Given the description of an element on the screen output the (x, y) to click on. 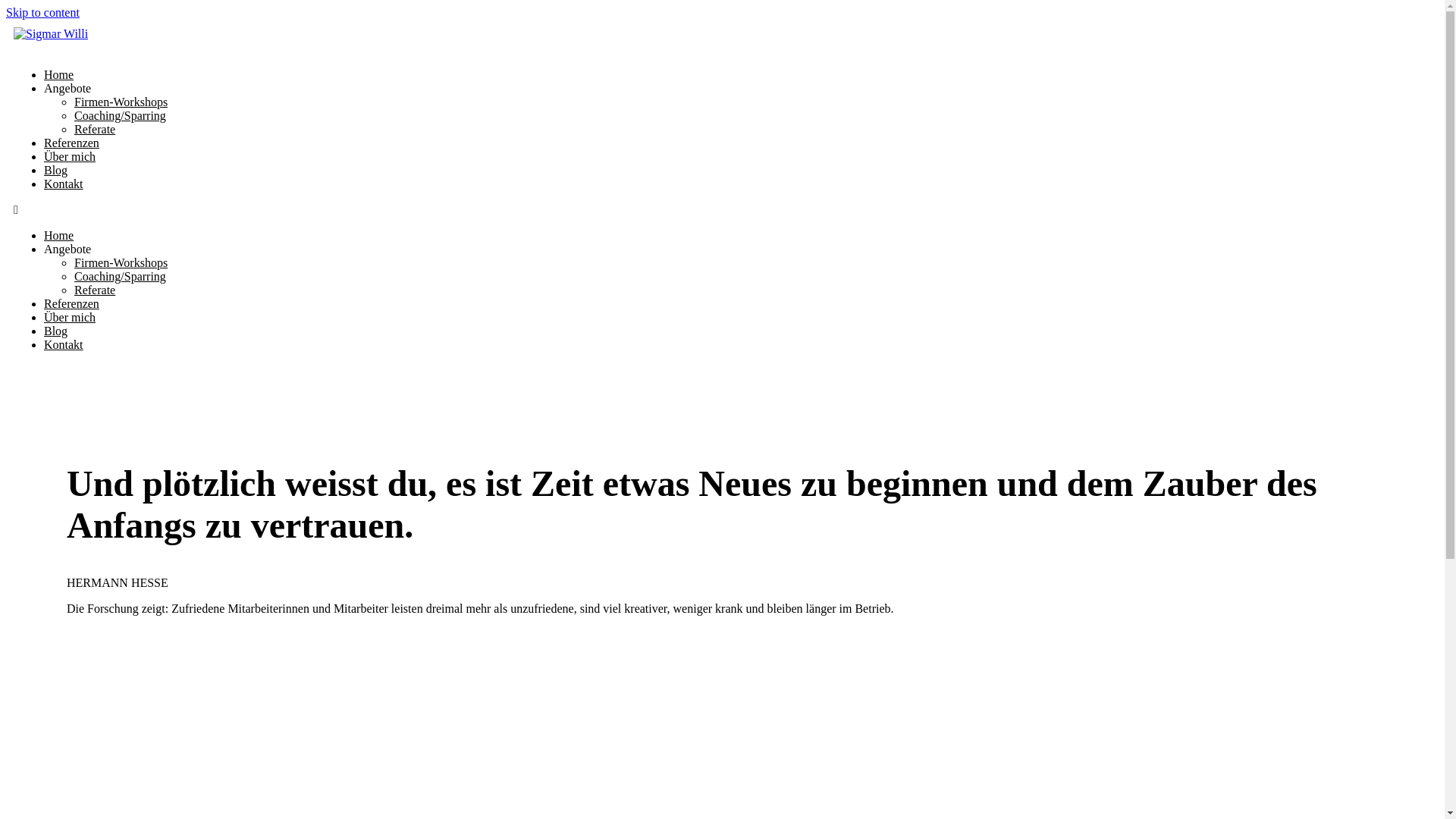
Coaching/Sparring Element type: text (120, 275)
Skip to content Element type: text (42, 12)
Blog Element type: text (55, 169)
Referate Element type: text (94, 128)
Home Element type: text (58, 74)
Referate Element type: text (94, 289)
Angebote Element type: text (67, 87)
Firmen-Workshops Element type: text (120, 262)
Referenzen Element type: text (71, 303)
Blog Element type: text (55, 330)
Coaching/Sparring Element type: text (120, 115)
Kontakt Element type: text (63, 183)
Home Element type: text (58, 235)
Referenzen Element type: text (71, 142)
Kontakt Element type: text (63, 344)
Angebote Element type: text (67, 248)
Firmen-Workshops Element type: text (120, 101)
